Given the description of an element on the screen output the (x, y) to click on. 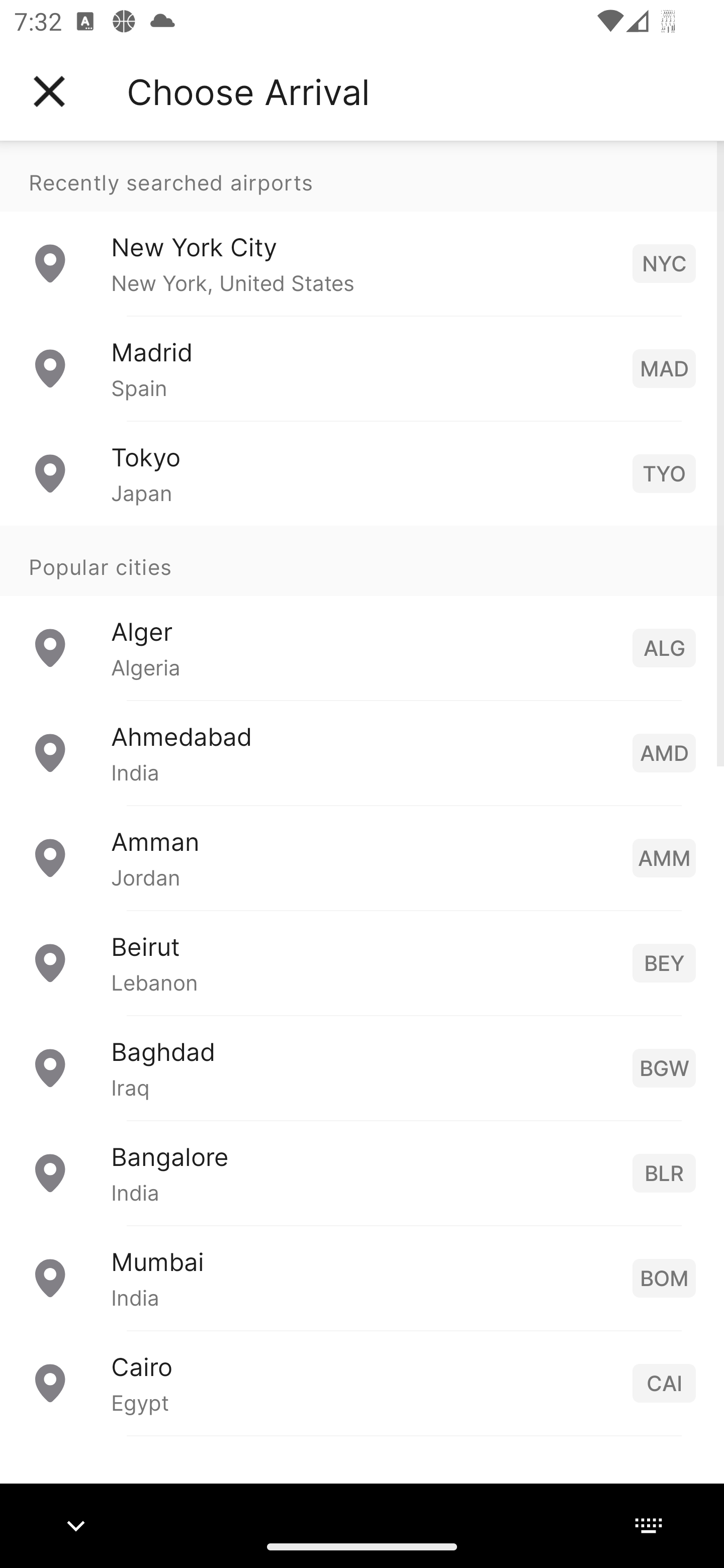
Choose Arrival (247, 91)
Recently searched airports (362, 176)
Madrid Spain MAD (362, 367)
Tokyo Japan TYO (362, 472)
Popular cities Alger Algeria ALG (362, 612)
Popular cities (362, 560)
Ahmedabad India AMD (362, 751)
Amman Jordan AMM (362, 856)
Beirut Lebanon BEY (362, 961)
Baghdad Iraq BGW (362, 1066)
Bangalore India BLR (362, 1171)
Mumbai India BOM (362, 1276)
Cairo Egypt CAI (362, 1381)
